Given the description of an element on the screen output the (x, y) to click on. 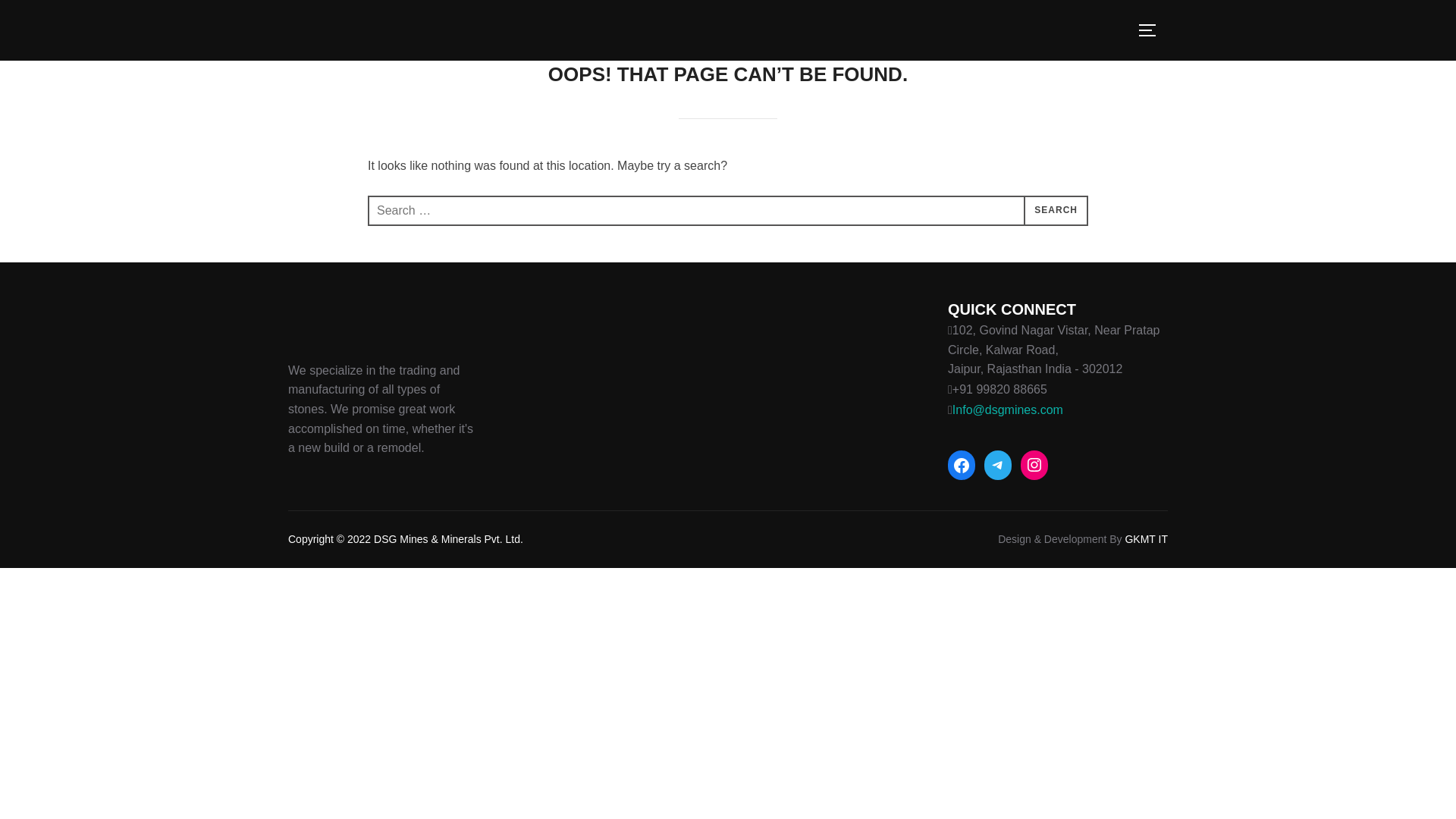
GKMT IT (1145, 539)
Instagram (1034, 464)
SEARCH (1055, 210)
Facebook (961, 465)
send mail (1007, 409)
Telegram (997, 464)
